Given the description of an element on the screen output the (x, y) to click on. 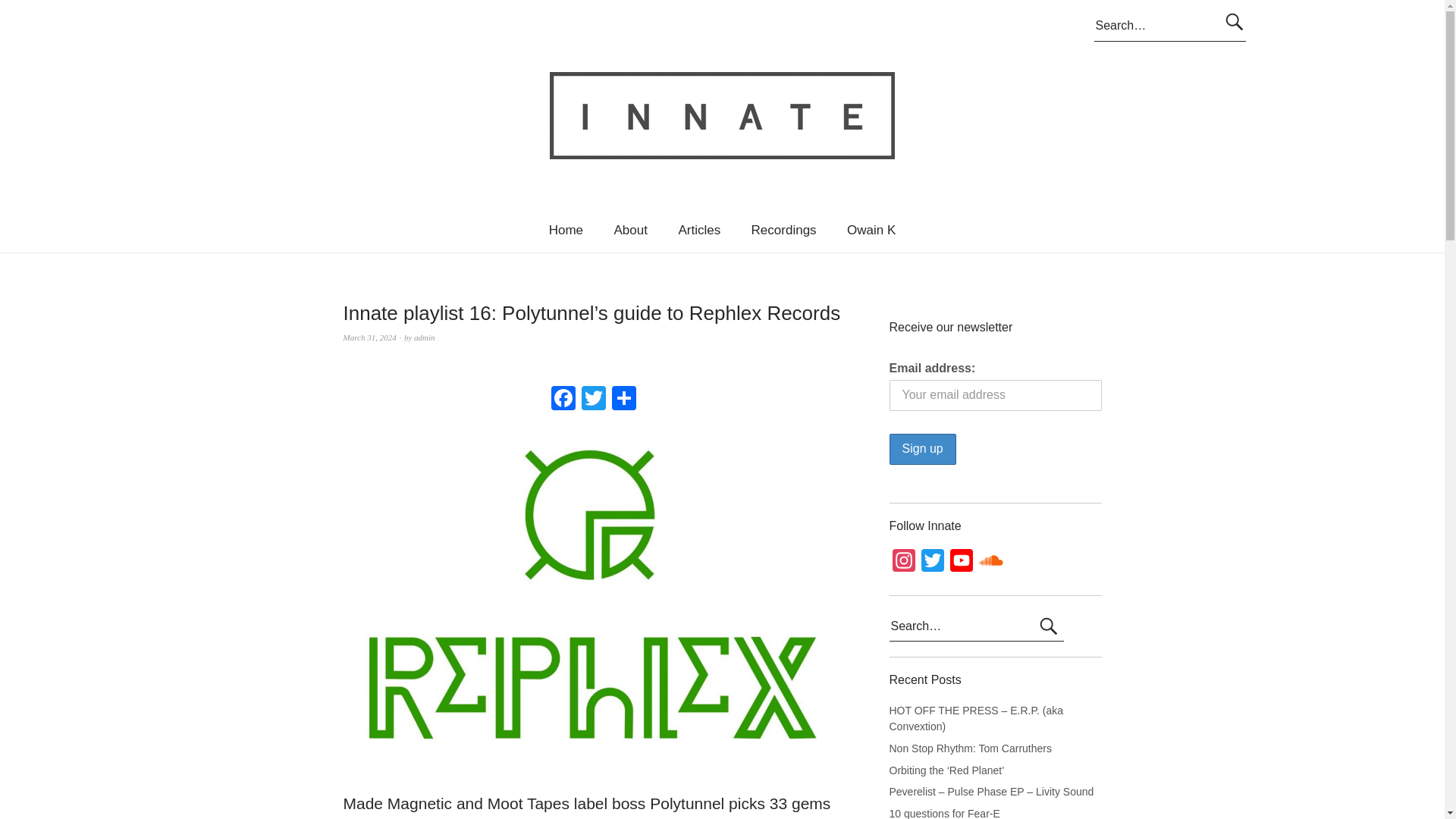
All posts by admin (424, 337)
Facebook (562, 399)
About (630, 230)
Twitter (593, 399)
Home (565, 230)
Instagram (902, 563)
March 31, 2024 (369, 337)
Twitter (931, 563)
Twitter (593, 399)
Sign up (921, 449)
